Given the description of an element on the screen output the (x, y) to click on. 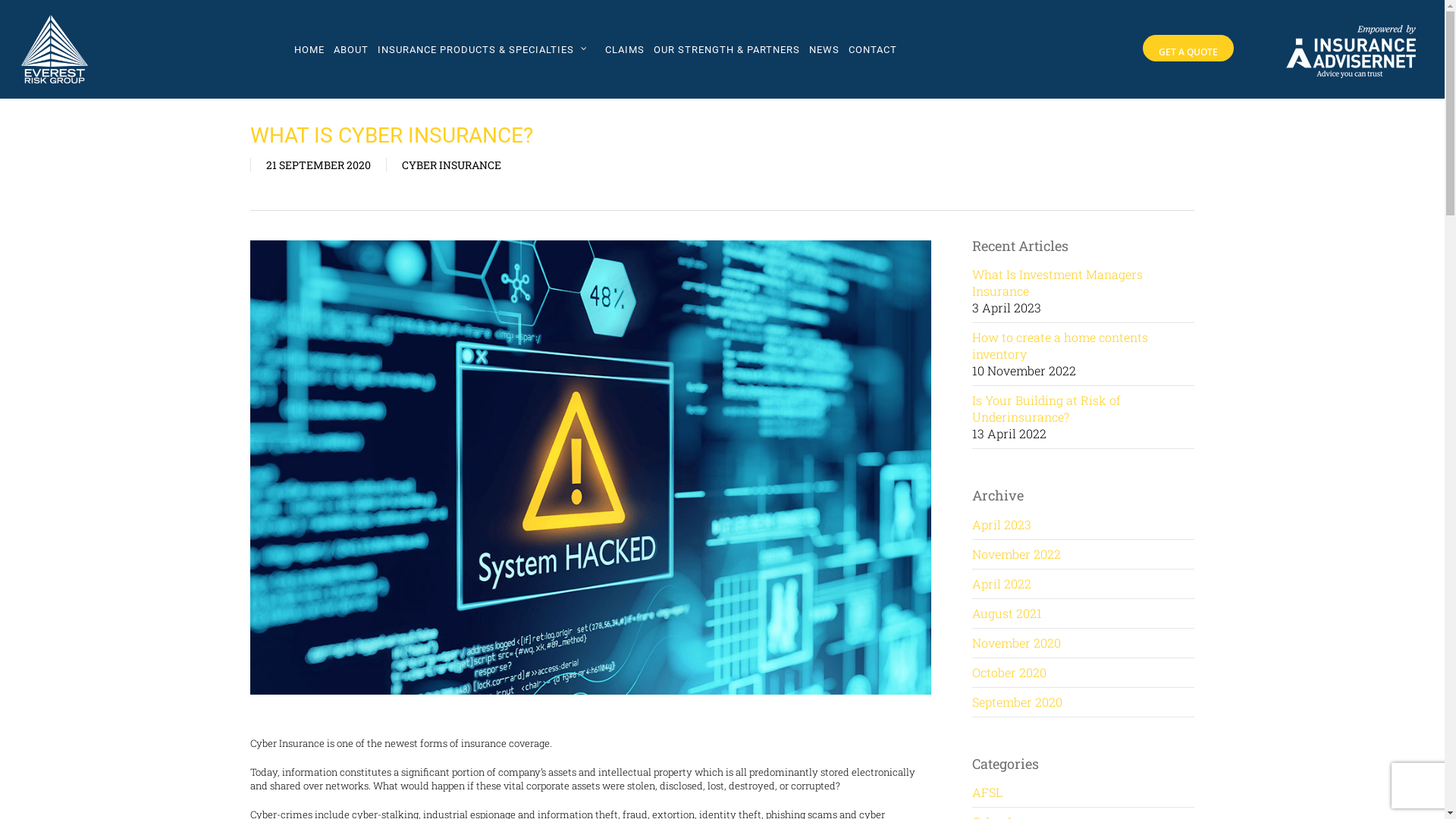
September 2020 Element type: text (1017, 701)
Is Your Building at Risk of Underinsurance? Element type: text (1046, 408)
NEWS Element type: text (824, 48)
HOME Element type: text (309, 48)
INSURANCE PRODUCTS & SPECIALTIES Element type: text (486, 48)
CYBER INSURANCE Element type: text (451, 164)
AFSL Element type: text (1083, 795)
How to create a home contents inventory Element type: text (1060, 345)
CONTACT Element type: text (872, 48)
October 2020 Element type: text (1009, 672)
November 2020 Element type: text (1016, 642)
April 2023 Element type: text (1001, 524)
ABOUT Element type: text (351, 48)
OUR STRENGTH & PARTNERS Element type: text (726, 48)
CLAIMS Element type: text (624, 48)
April 2022 Element type: text (1001, 583)
GET A QUOTE Element type: text (1187, 47)
August 2021 Element type: text (1006, 613)
November 2022 Element type: text (1016, 553)
What Is Investment Managers Insurance Element type: text (1057, 282)
